Given the description of an element on the screen output the (x, y) to click on. 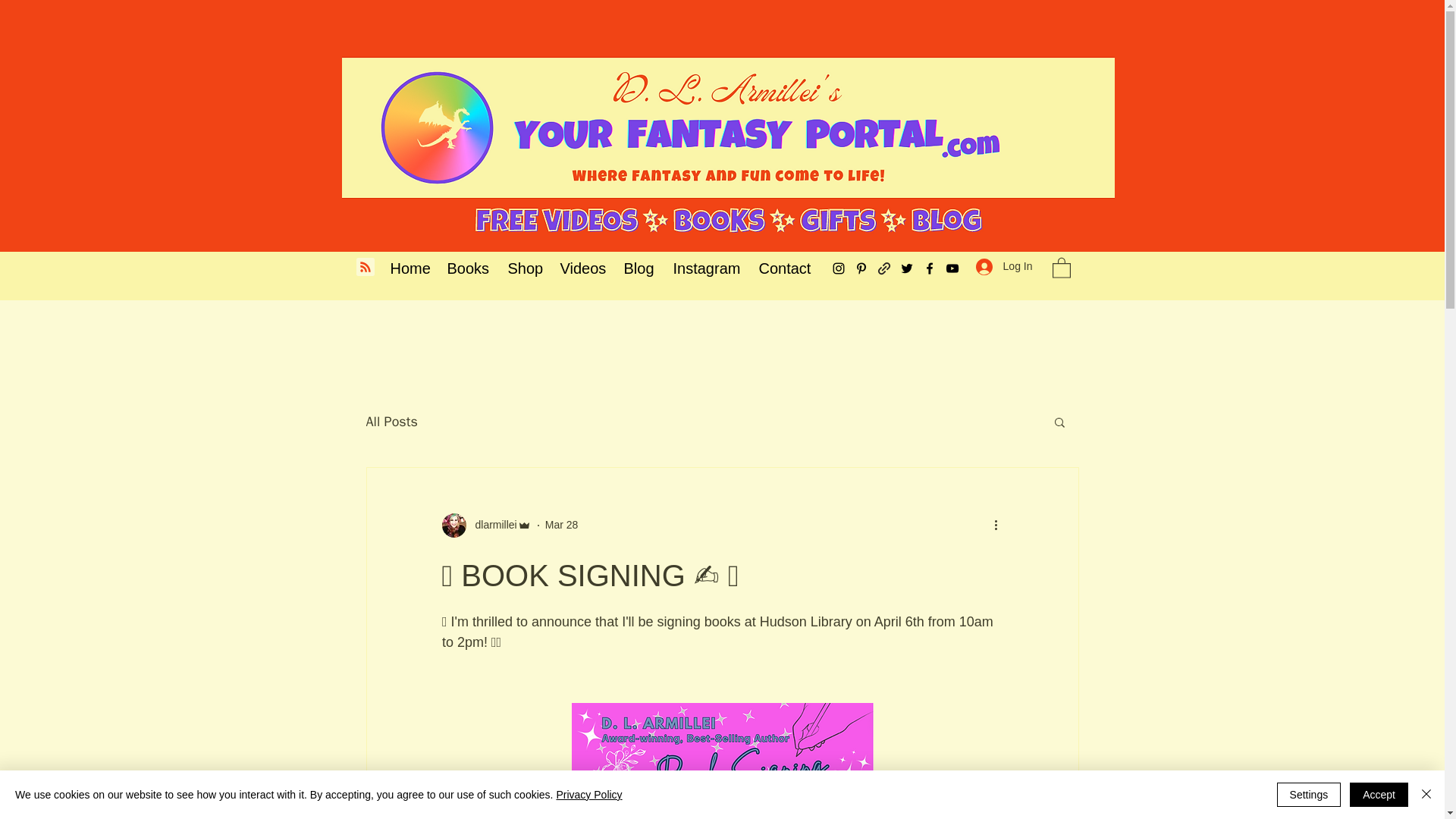
Instagram (703, 268)
Log In (1004, 266)
Videos (580, 268)
Contact (782, 268)
dlarmillei (486, 525)
dlarmillei (490, 524)
Blog (637, 268)
Home (406, 268)
All Posts (390, 421)
Mar 28 (561, 524)
